Given the description of an element on the screen output the (x, y) to click on. 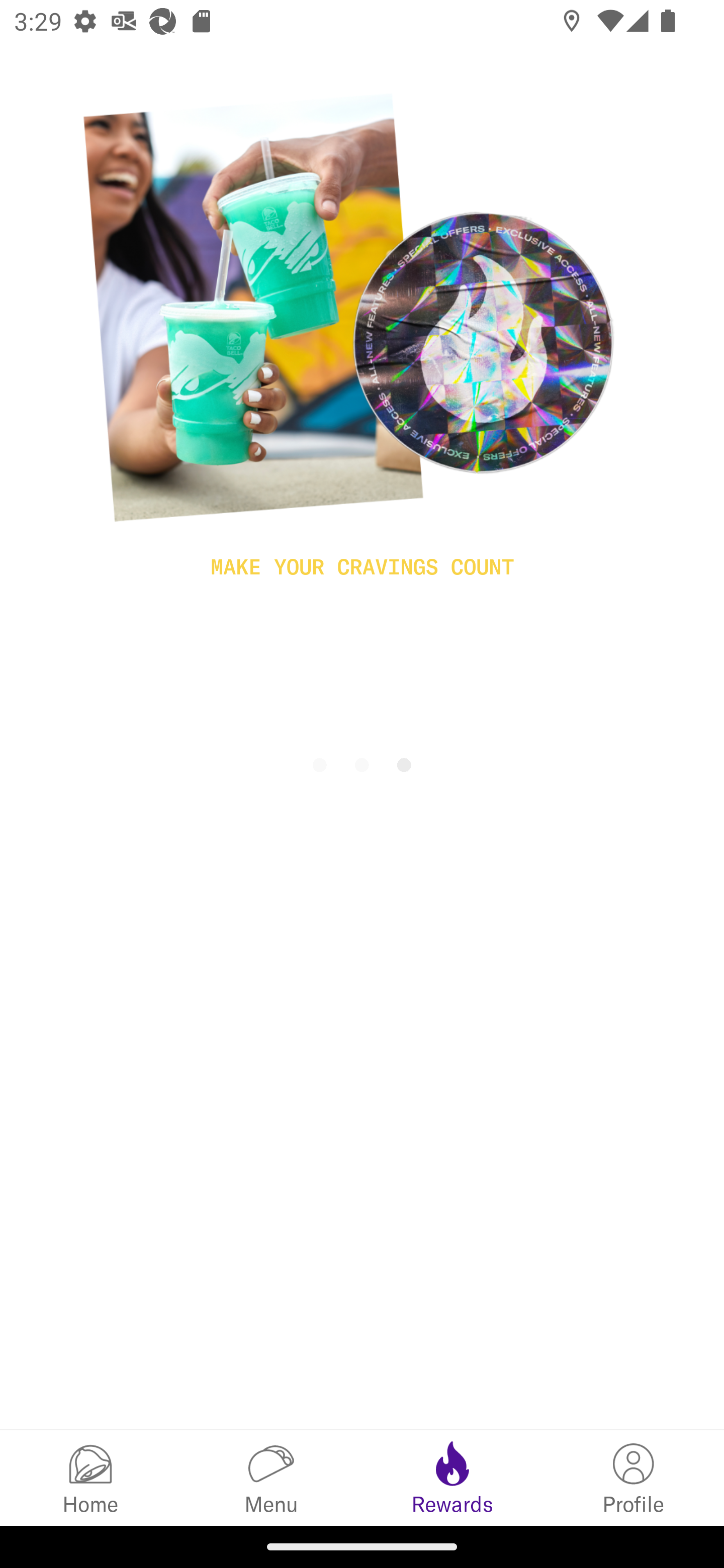
Home (90, 1476)
Menu (271, 1476)
Rewards (452, 1476)
My Info Profile (633, 1476)
